Given the description of an element on the screen output the (x, y) to click on. 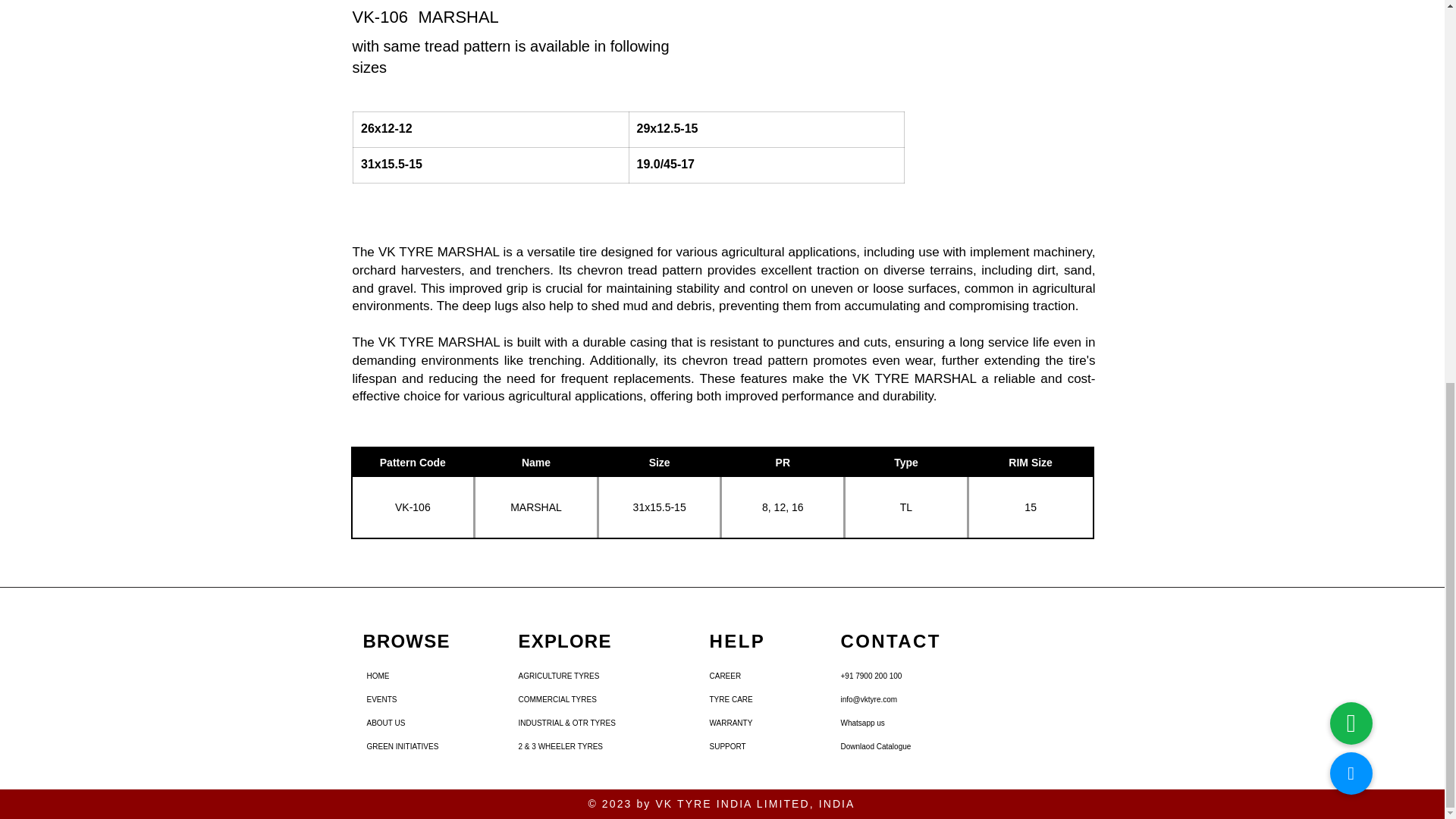
HOME (406, 675)
ABOUT US (406, 722)
BROWSE (405, 640)
CAREER (749, 675)
GREEN INITIATIVES (406, 746)
TYRE CARE (749, 699)
EXPLORE (564, 640)
COMMERCIAL TYRES (558, 699)
WARRANTY (749, 722)
SUPPORT (749, 746)
Downlaod Catalogue (894, 746)
EVENTS (406, 699)
Whatsapp us (894, 722)
AGRICULTURE TYRES (558, 675)
